Given the description of an element on the screen output the (x, y) to click on. 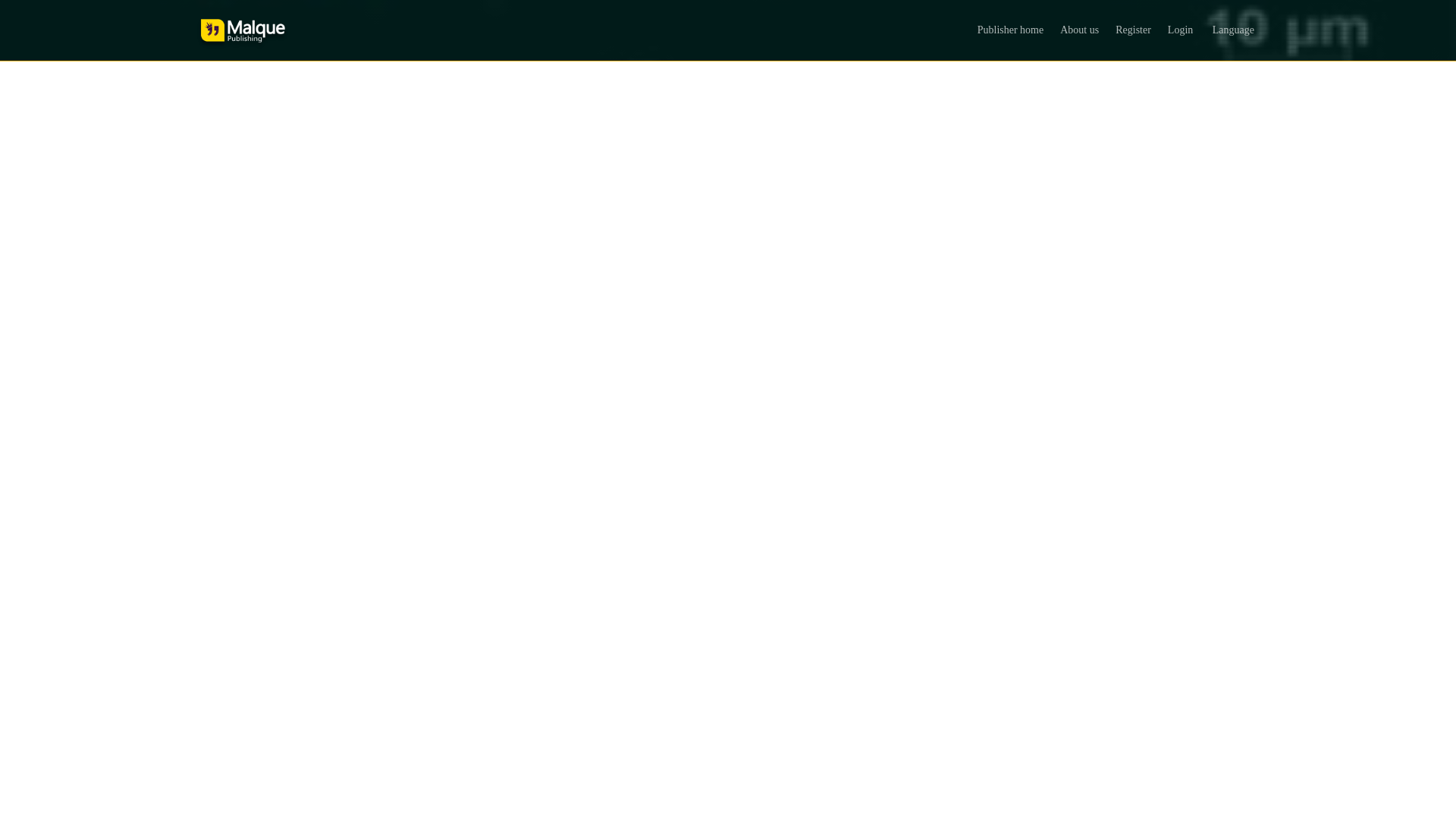
About us (1079, 30)
Login (1179, 30)
Language (1232, 30)
Register (1133, 30)
Publisher home (1010, 30)
